Given the description of an element on the screen output the (x, y) to click on. 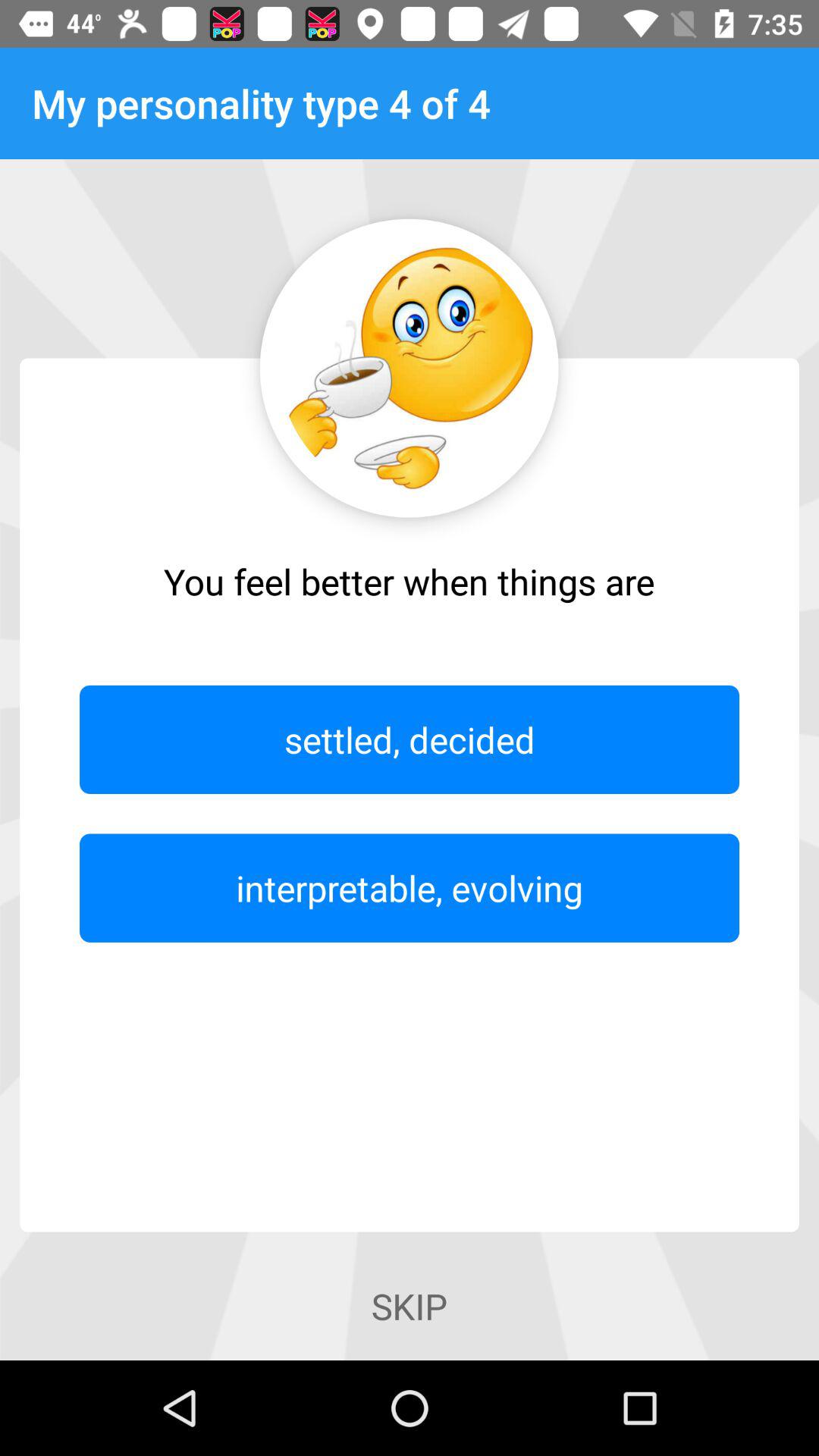
click item above skip (409, 887)
